Given the description of an element on the screen output the (x, y) to click on. 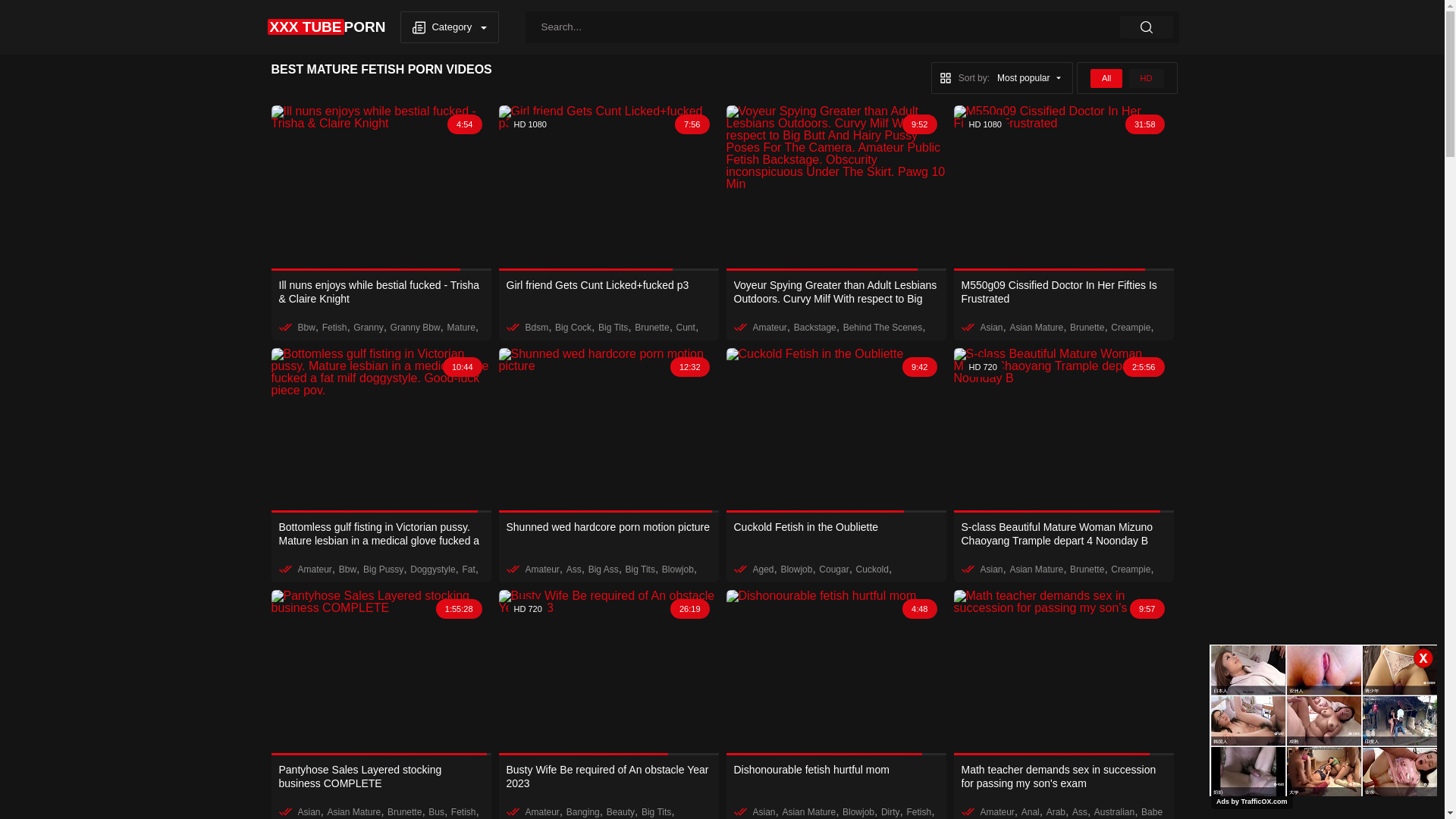
Bdsm Element type: text (536, 326)
Amateur Element type: text (541, 569)
Search X Videos Element type: hover (851, 27)
HD Element type: text (1146, 77)
Behind The Scenes Element type: text (882, 326)
Fat Element type: text (468, 569)
9:52 Element type: text (836, 187)
Arab Element type: text (1055, 811)
Creampie Element type: text (1130, 569)
Bbw Element type: text (347, 569)
Cuckold Element type: text (872, 569)
Asian Mature Element type: text (808, 811)
Asian Mature Element type: text (1036, 569)
9:42 Element type: text (836, 429)
Blowjob Element type: text (796, 569)
Bbw Element type: text (305, 326)
Australian Element type: text (1114, 811)
Banging Element type: text (582, 811)
4:54 Element type: text (381, 187)
Asian Element type: text (308, 811)
Asian Element type: text (990, 326)
Big Pussy Element type: text (383, 569)
Big Cock Element type: text (573, 326)
Pantyhose Sales Layered stocking business COMPLETE Element type: text (381, 776)
Asian Element type: text (763, 811)
Asian Mature Element type: text (1036, 326)
7:56
HD 1080 Element type: text (608, 187)
Dirty Element type: text (890, 811)
All Element type: text (1105, 77)
31:58
HD 1080 Element type: text (1063, 187)
Beauty Element type: text (620, 811)
Aged Element type: text (762, 569)
26:19
HD 720 Element type: text (608, 672)
Ass Element type: text (573, 569)
Fetish Element type: text (918, 811)
Shunned wed hardcore porn motion picture Element type: text (608, 533)
4:48 Element type: text (836, 672)
Blowjob Element type: text (677, 569)
Fetish Element type: text (334, 326)
Granny Bbw Element type: text (415, 326)
Big Tits Element type: text (656, 811)
Big Tits Element type: text (612, 326)
Fetish Element type: text (463, 811)
Cougar Element type: text (833, 569)
Big Ass Element type: text (603, 569)
Anal Element type: text (1030, 811)
Doggystyle Element type: text (432, 569)
Granny Element type: text (367, 326)
12:32 Element type: text (608, 429)
Mature Element type: text (460, 326)
XXX TUBEPORN Element type: text (325, 27)
Brunette Element type: text (404, 811)
Backstage Element type: text (814, 326)
M550g09 Cissified Doctor In Her Fifties Is Frustrated Element type: text (1063, 290)
Girl friend Gets Cunt Licked+fucked p3 Element type: text (608, 290)
Creampie Element type: text (1130, 326)
Brunette Element type: text (1087, 326)
Blowjob Element type: text (858, 811)
Cuckold Fetish in the Oubliette Element type: text (836, 533)
2:5:56
HD 720 Element type: text (1063, 429)
Babe Element type: text (1151, 811)
Busty Wife Be required of An obstacle Year 2023 Element type: text (608, 776)
Bus Element type: text (436, 811)
10:44 Element type: text (381, 429)
Amateur Element type: text (996, 811)
Cunt Element type: text (685, 326)
1:55:28 Element type: text (381, 672)
Amateur Element type: text (314, 569)
Ads by TrafficOX.com Element type: text (1251, 801)
Big Tits Element type: text (640, 569)
Ass Element type: text (1079, 811)
Brunette Element type: text (651, 326)
9:57 Element type: text (1063, 672)
Asian Element type: text (990, 569)
Asian Mature Element type: text (353, 811)
Amateur Element type: text (541, 811)
Dishonourable fetish hurtful mom Element type: text (836, 776)
Amateur Element type: text (769, 326)
Brunette Element type: text (1087, 569)
